Given the description of an element on the screen output the (x, y) to click on. 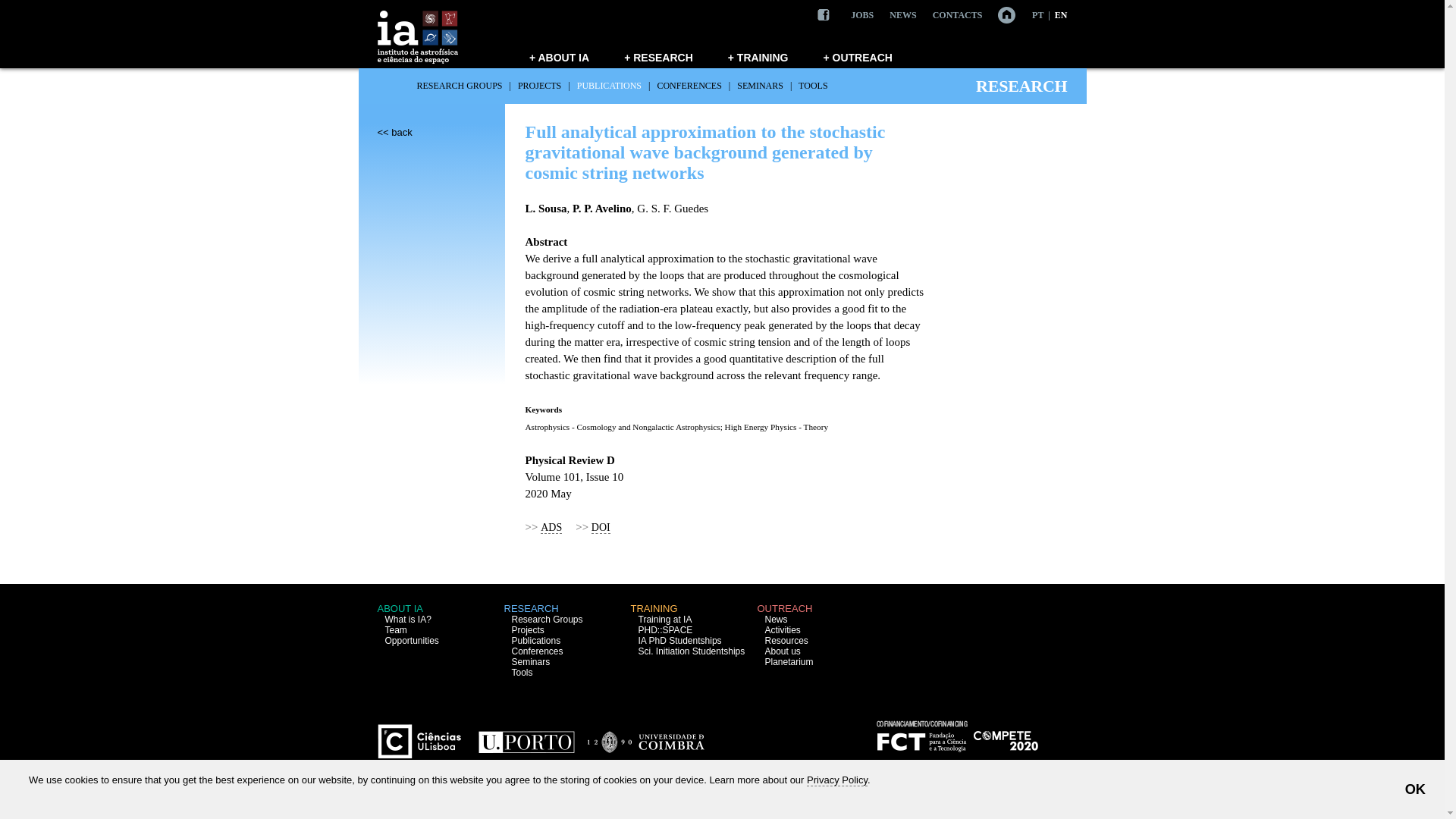
Home (999, 14)
PROJECTS (539, 85)
RESEARCH GROUPS (459, 85)
Team (396, 629)
Facebook (822, 15)
CONFERENCES (688, 85)
JOBS (861, 14)
ADS (551, 527)
What is IA? (407, 619)
NEWS (902, 14)
PT (1037, 14)
DOI (600, 527)
SEMINARS (759, 85)
TOOLS (812, 85)
CONTACTS (957, 14)
